Given the description of an element on the screen output the (x, y) to click on. 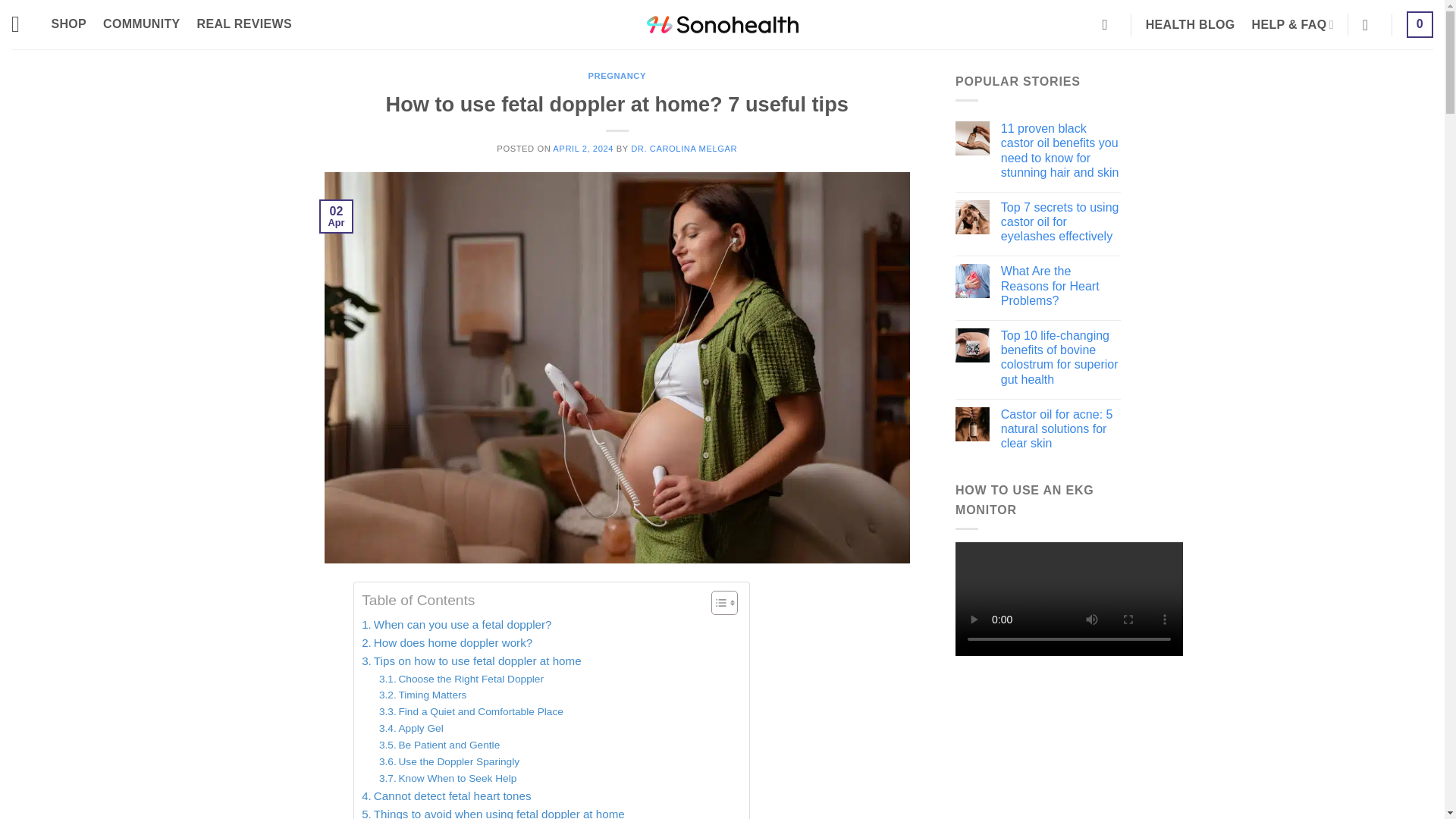
HEALTH BLOG (1189, 24)
Apply Gel (411, 728)
Know When to Seek Help (447, 778)
APRIL 2, 2024 (582, 148)
Be Patient and Gentle (438, 745)
Choose the Right Fetal Doppler (460, 678)
Find a Quiet and Comfortable Place (470, 711)
Things to avoid when using fetal doppler at home (492, 812)
Know When to Seek Help (447, 778)
How does home doppler work? (446, 642)
